Given the description of an element on the screen output the (x, y) to click on. 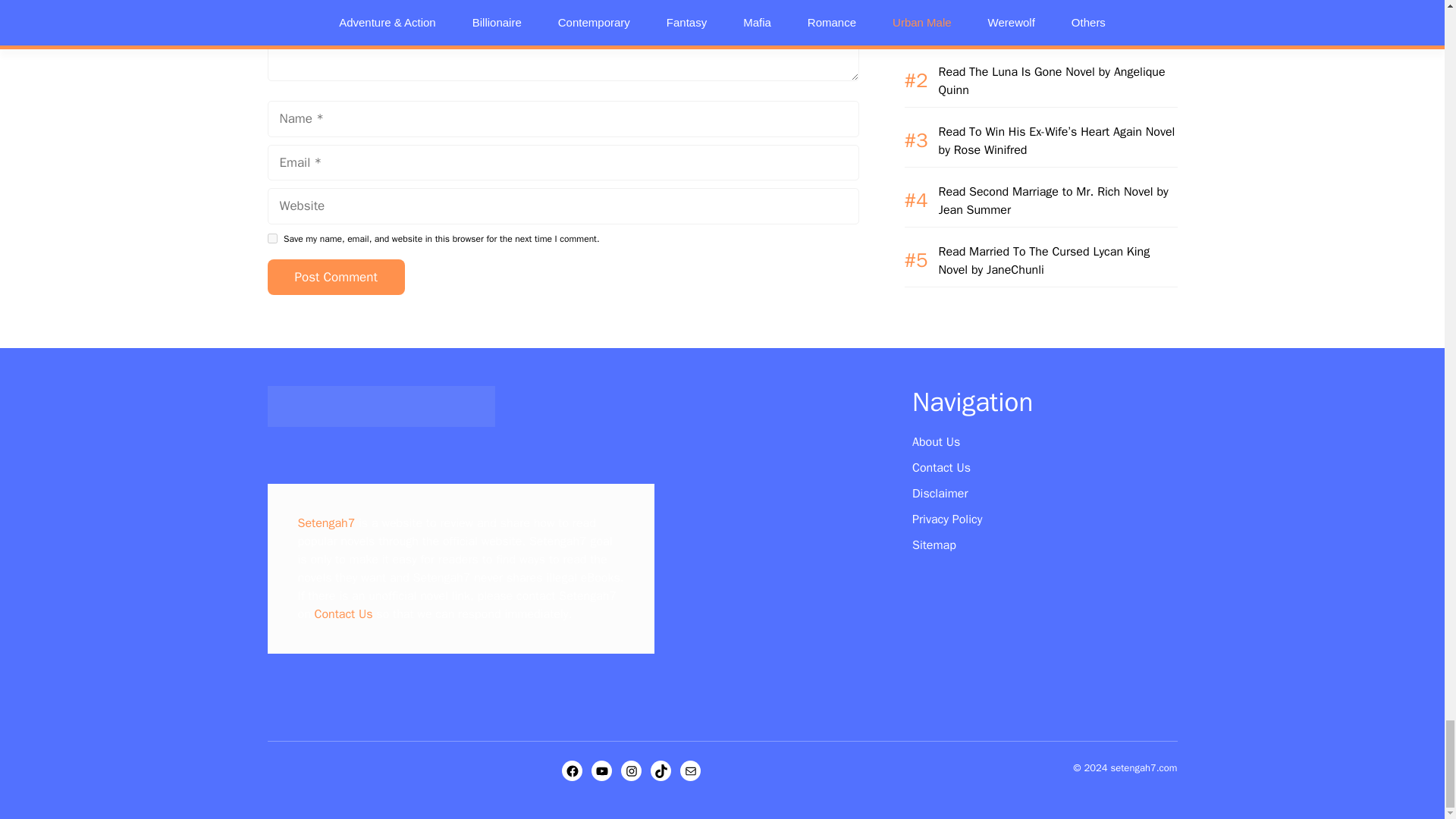
Post Comment (335, 277)
yes (271, 238)
